Given the description of an element on the screen output the (x, y) to click on. 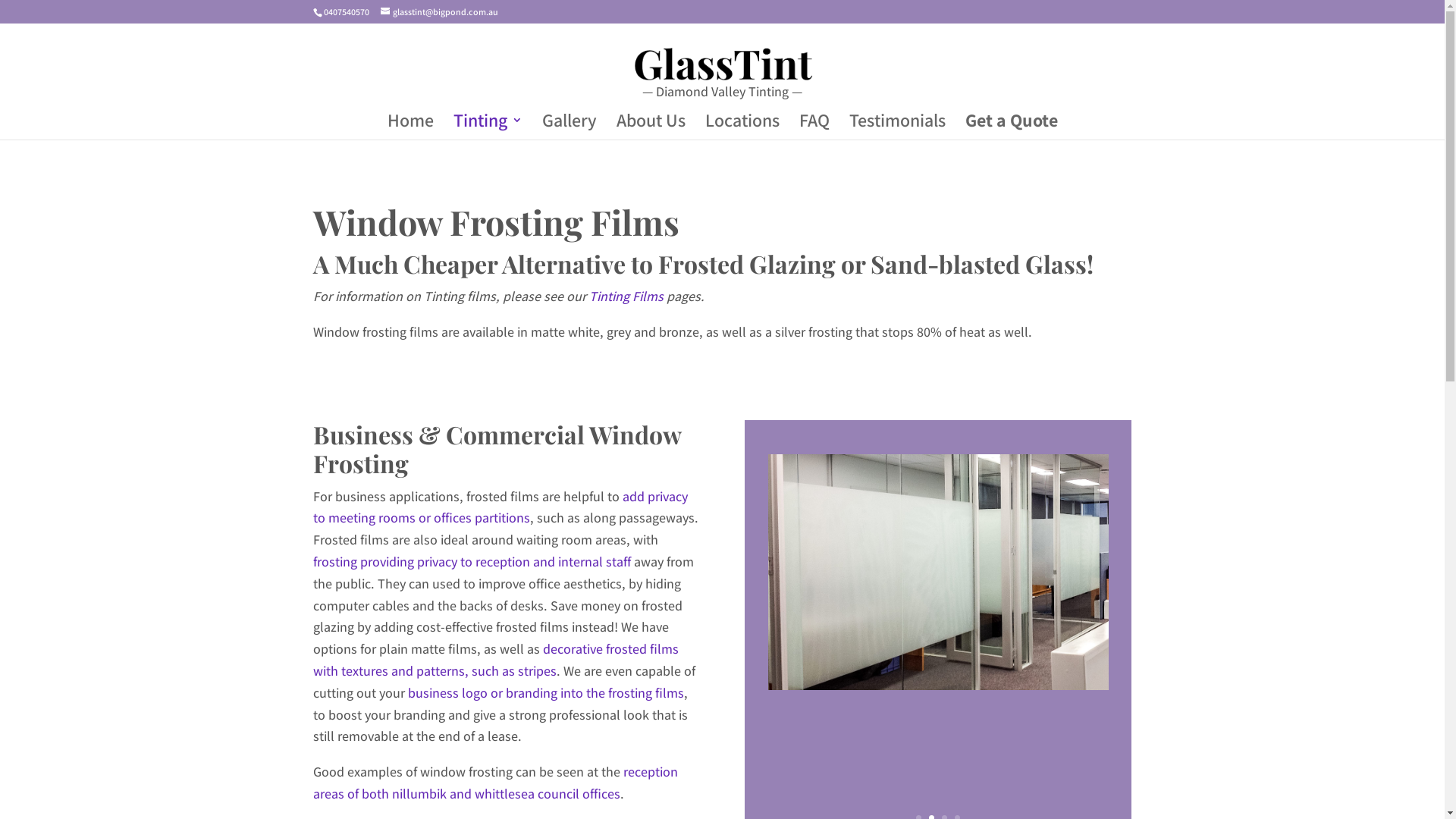
Get a Quote Element type: text (1010, 126)
0407540570 Element type: text (345, 11)
frosting providing privacy to reception and internal staff Element type: text (471, 561)
Testimonials Element type: text (897, 126)
glasstint@bigpond.com.au Element type: text (439, 11)
About Us Element type: text (649, 126)
Locations Element type: text (742, 126)
Home Element type: text (409, 126)
business logo or branding into the frosting films Element type: text (545, 692)
add privacy to meeting rooms or offices partitions Element type: text (499, 507)
Tinting Films Element type: text (625, 295)
Tinting Element type: text (487, 126)
FAQ Element type: text (814, 126)
Gallery Element type: text (568, 126)
